Given the description of an element on the screen output the (x, y) to click on. 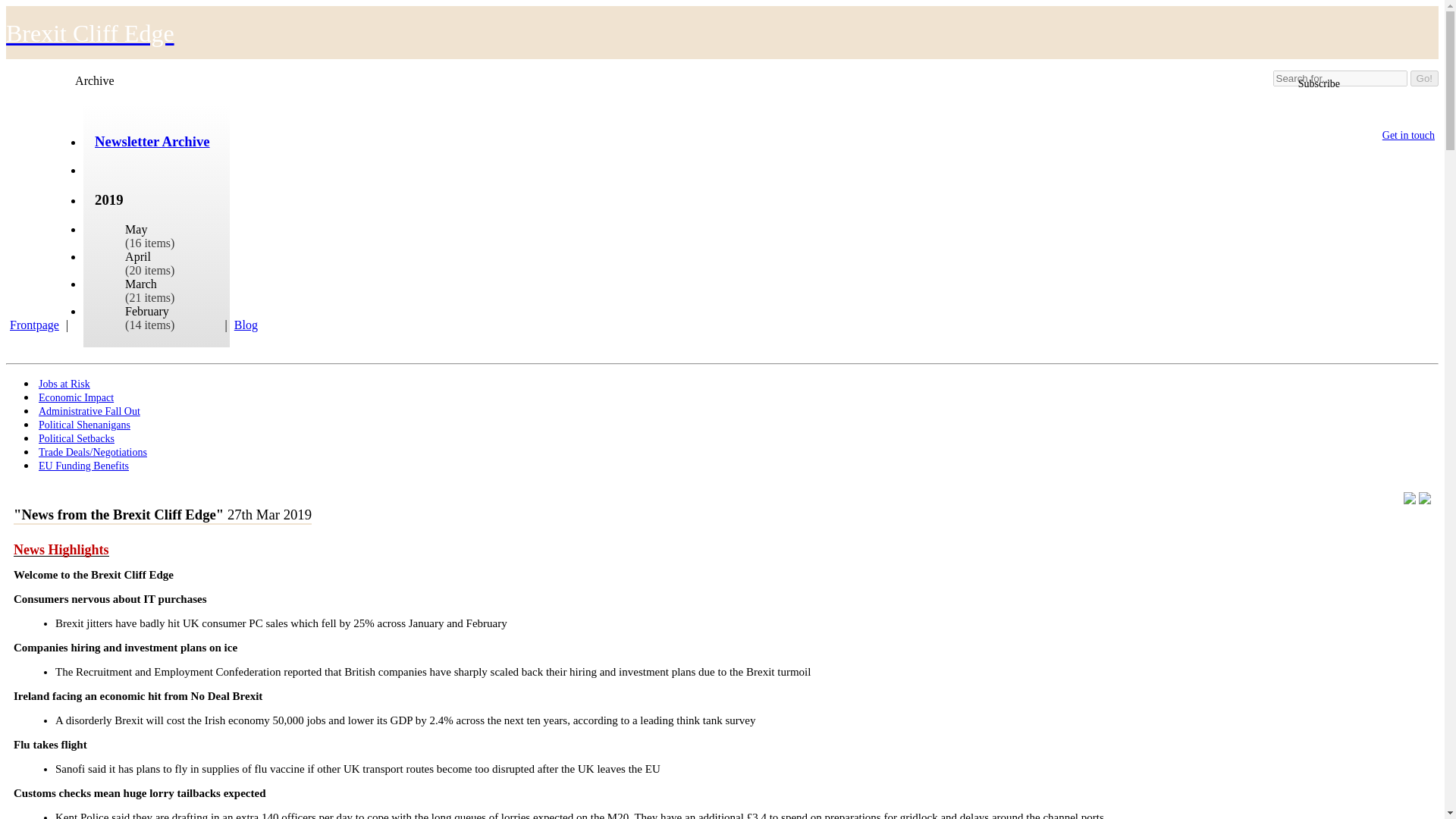
Frontpage (37, 324)
  Subscribe (1315, 84)
Newsletter Archive (151, 141)
